Given the description of an element on the screen output the (x, y) to click on. 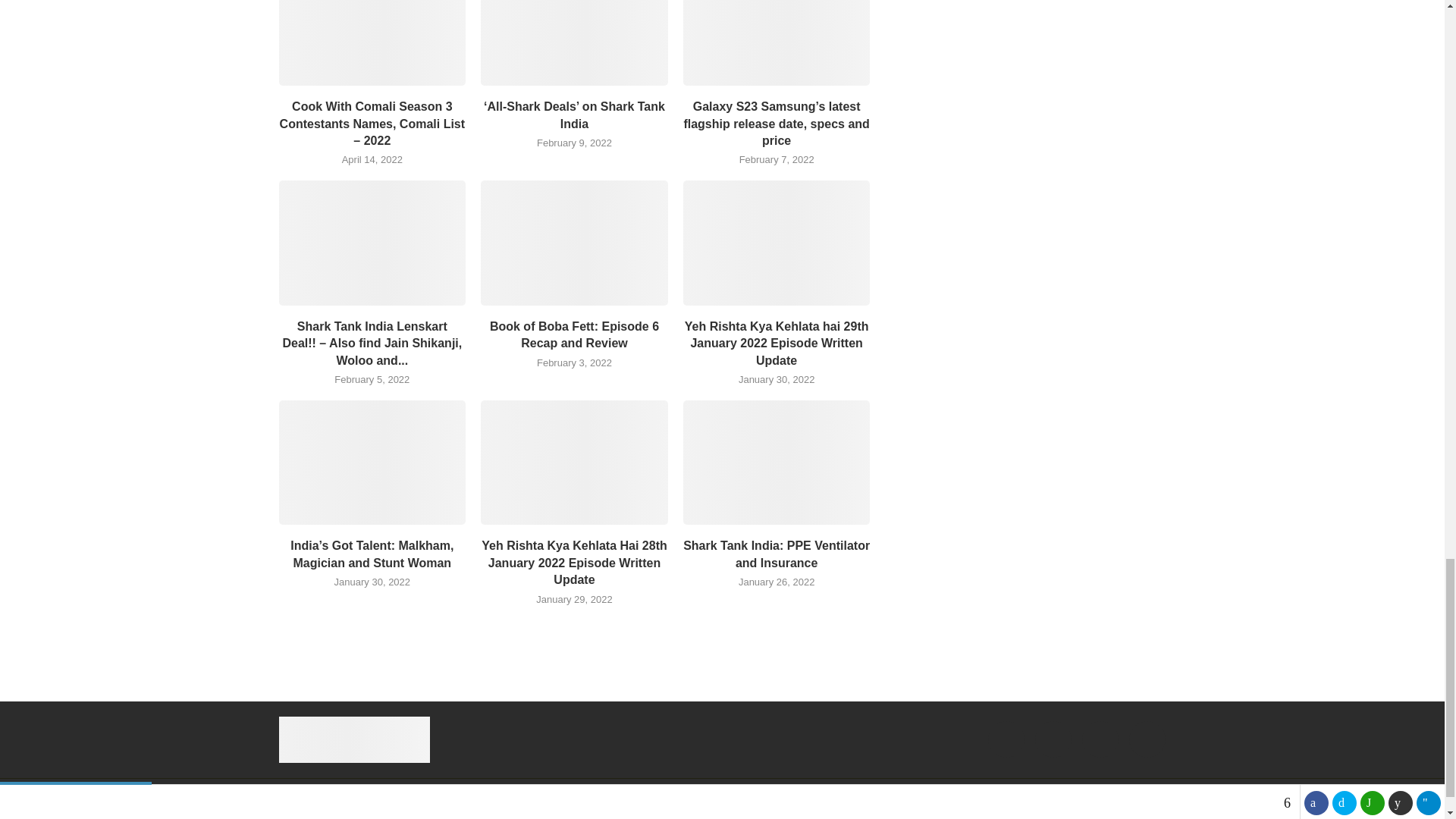
Shark Tank India: PPE Ventilator and Insurance (776, 462)
Book of Boba Fett: Episode 6 Recap and Review (574, 242)
